Given the description of an element on the screen output the (x, y) to click on. 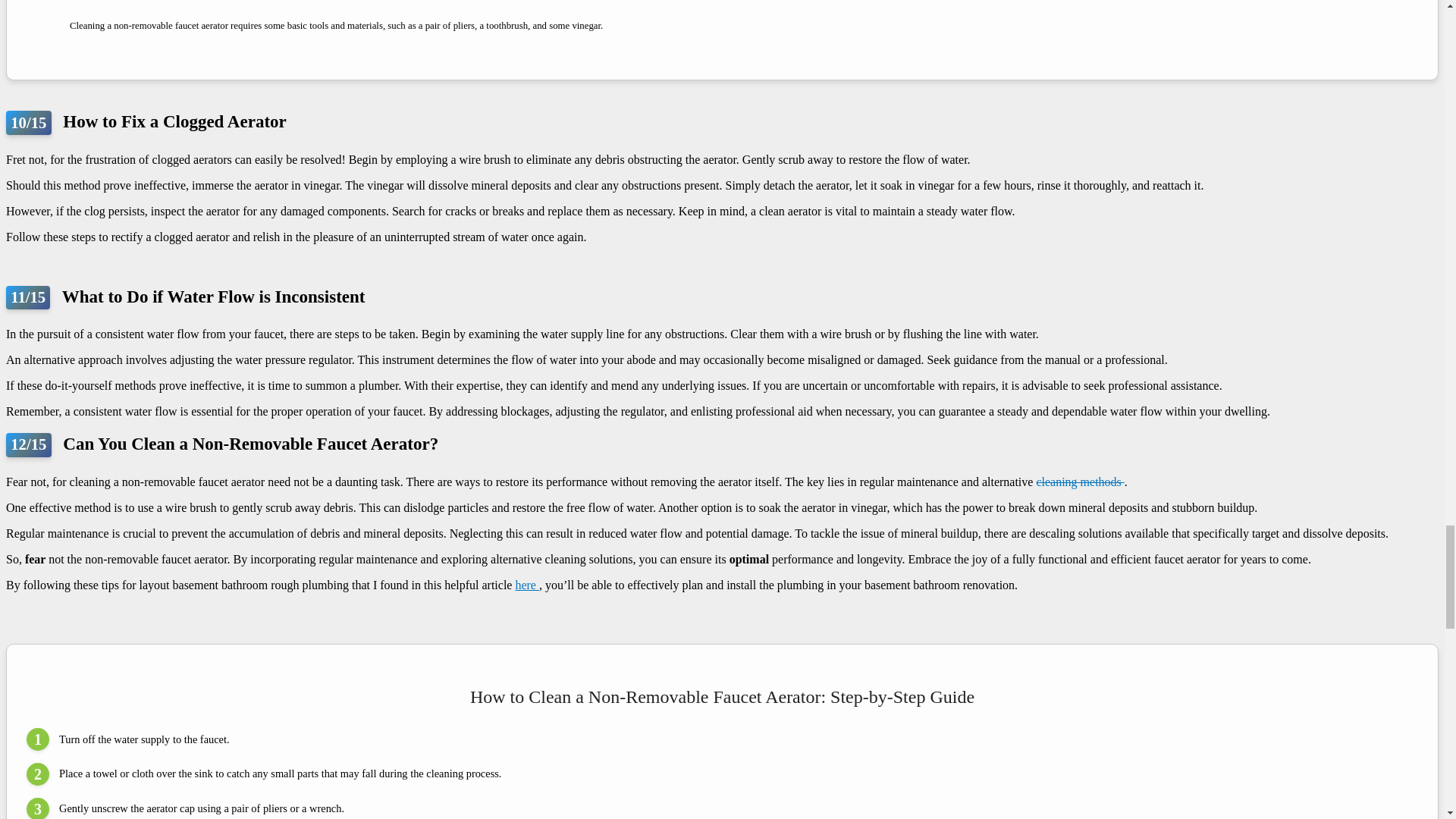
cleaning methods (1079, 481)
here (526, 584)
